Given the description of an element on the screen output the (x, y) to click on. 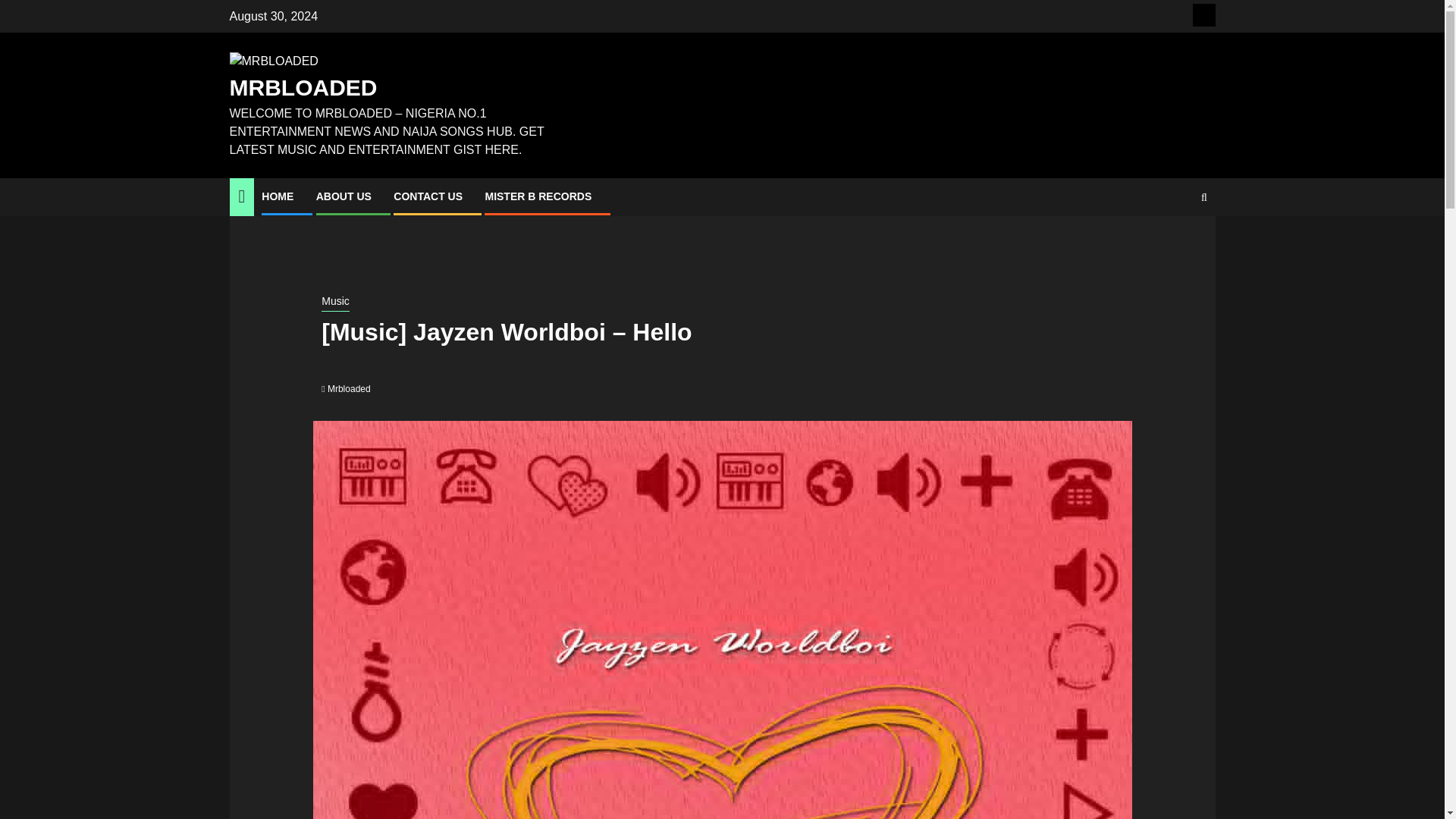
MISTER B RECORDS (537, 196)
Mrbloaded (349, 388)
ABOUT US (343, 196)
Search (1174, 242)
HOME (278, 196)
Music (335, 302)
MRBLOADED (302, 87)
CONTACT US (428, 196)
